Given the description of an element on the screen output the (x, y) to click on. 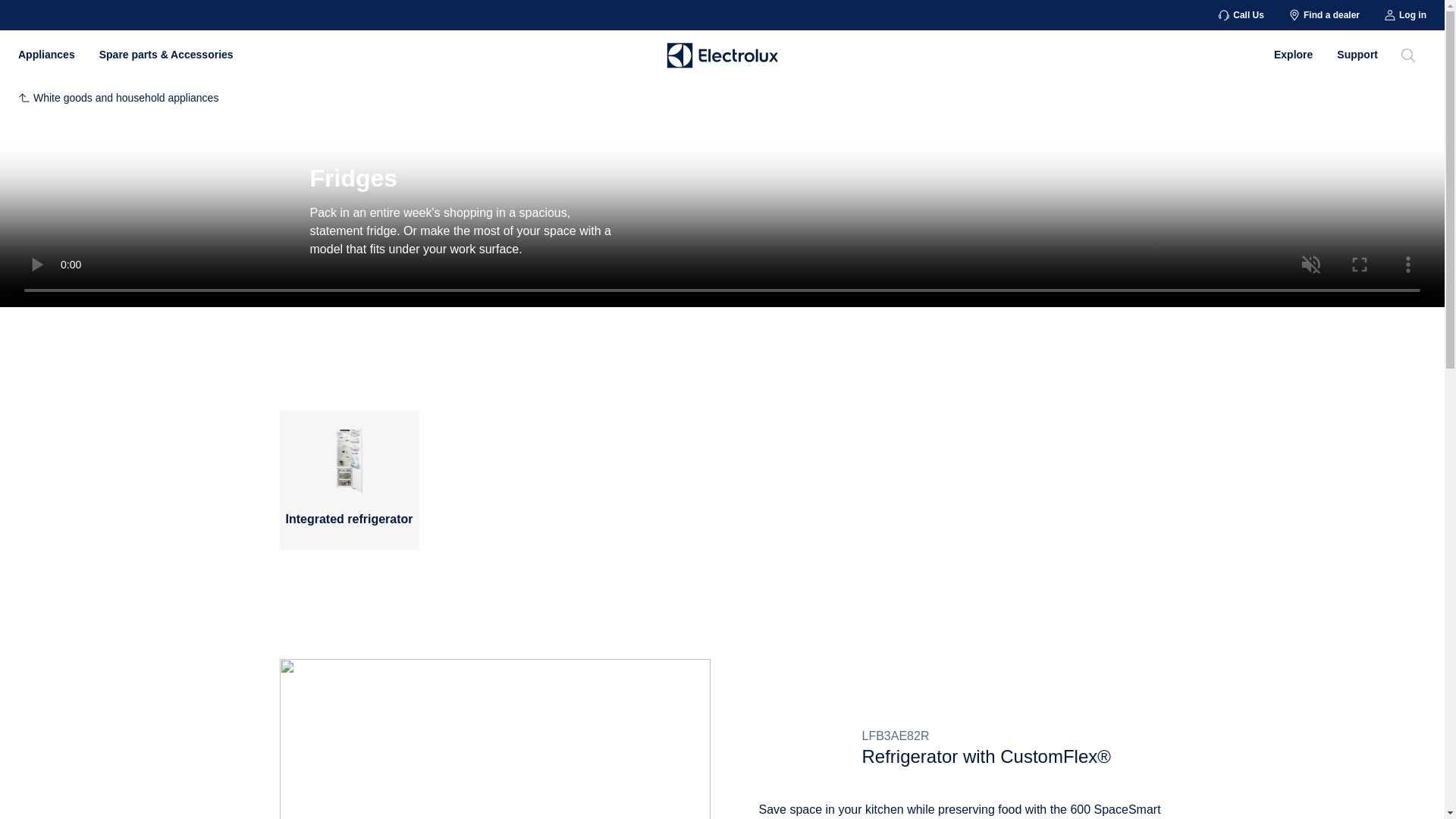
Support (1356, 54)
Call Us (1240, 15)
Log in (1405, 15)
Find a dealer (1323, 15)
